Given the description of an element on the screen output the (x, y) to click on. 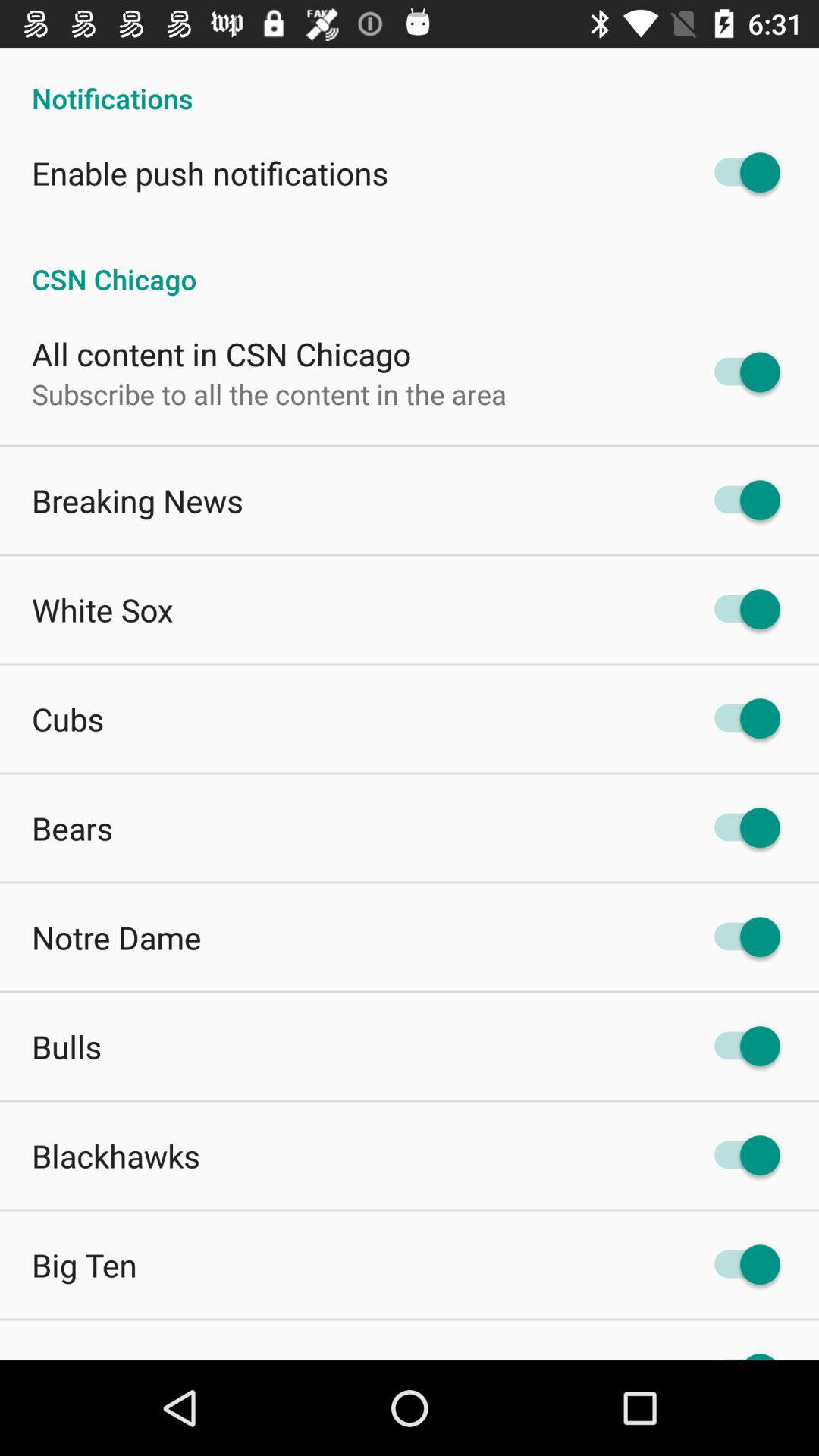
tap item below breaking news app (102, 609)
